Given the description of an element on the screen output the (x, y) to click on. 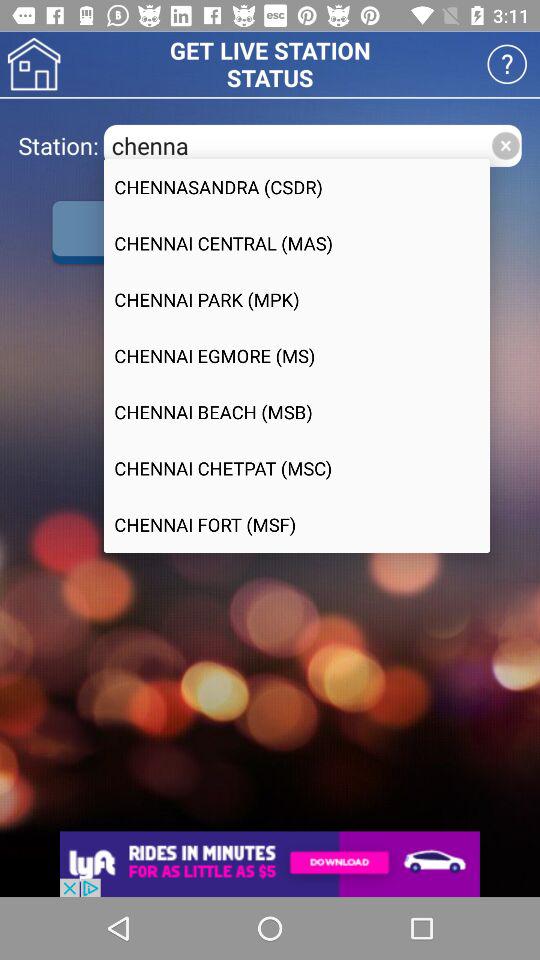
close (505, 145)
